Given the description of an element on the screen output the (x, y) to click on. 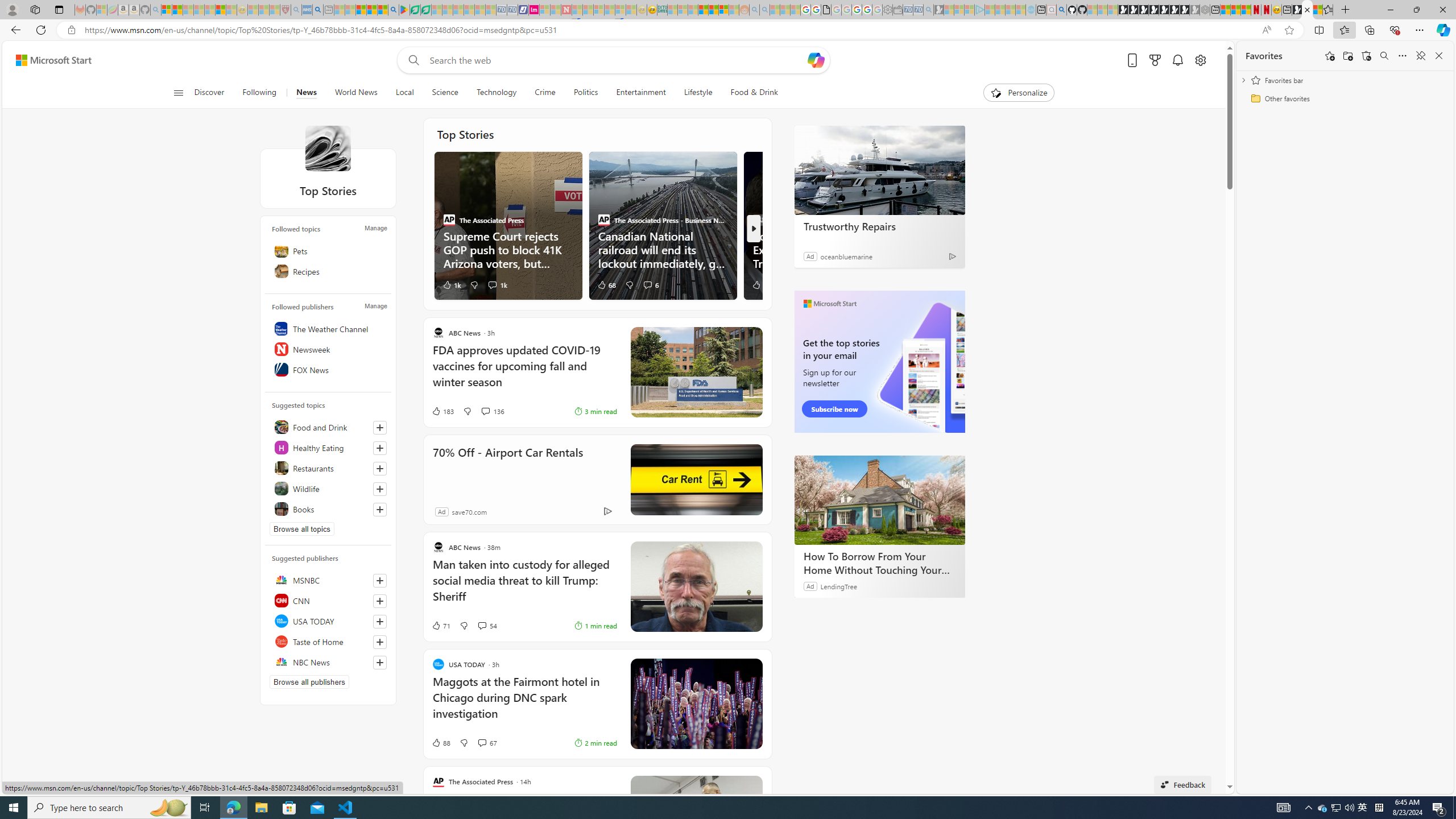
Pets - MSN (371, 9)
Add this page to favorites (1330, 55)
